Given the description of an element on the screen output the (x, y) to click on. 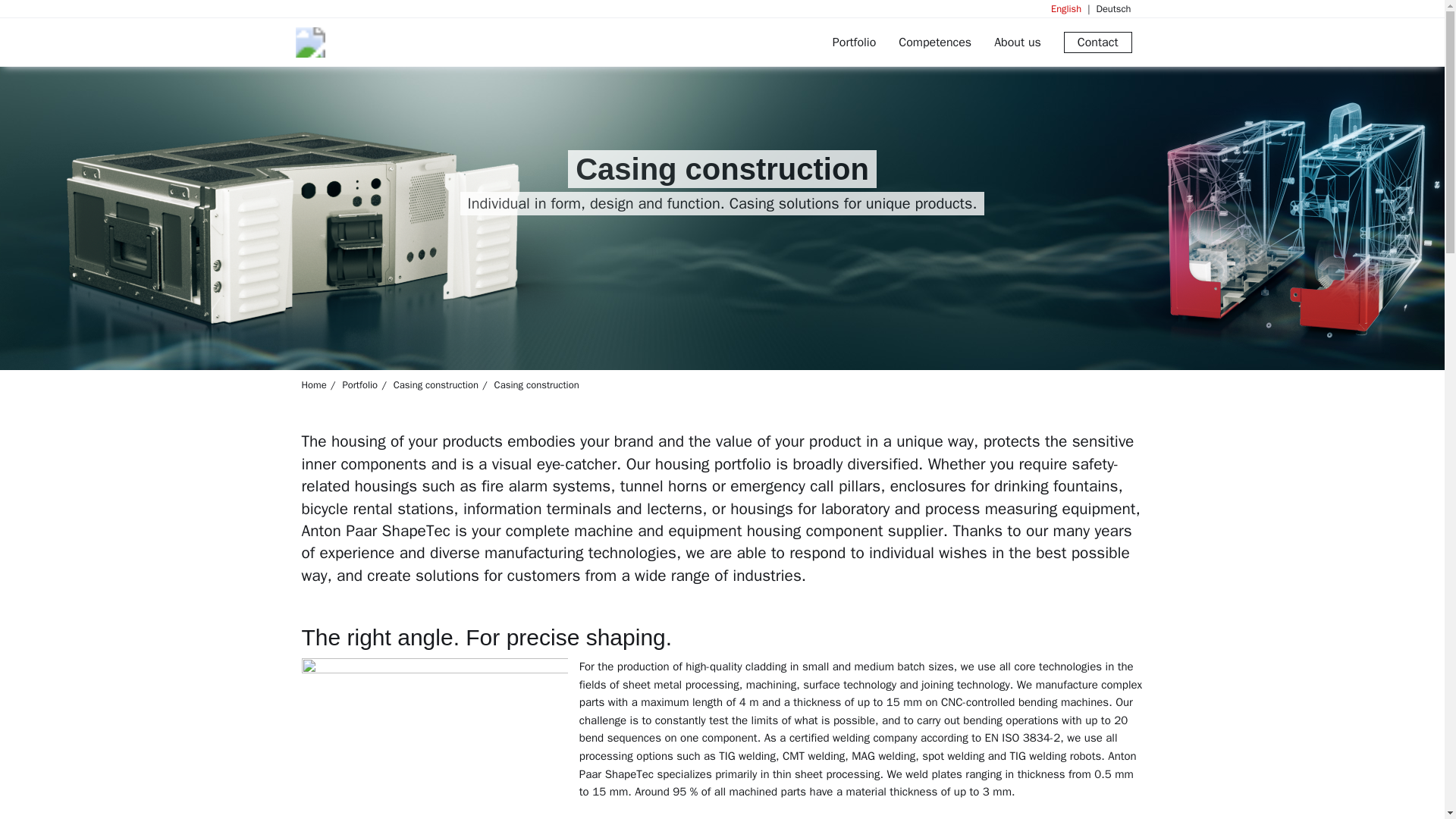
Casing construction (436, 384)
Portfolio (359, 384)
English (1066, 9)
Competences (934, 42)
English (1066, 9)
Deutsch (1106, 9)
Deutsch (1106, 9)
Home (313, 384)
Casing construction (537, 384)
About us (1017, 42)
Portfolio (854, 42)
Contact (1097, 42)
Anton Paar (392, 42)
